Given the description of an element on the screen output the (x, y) to click on. 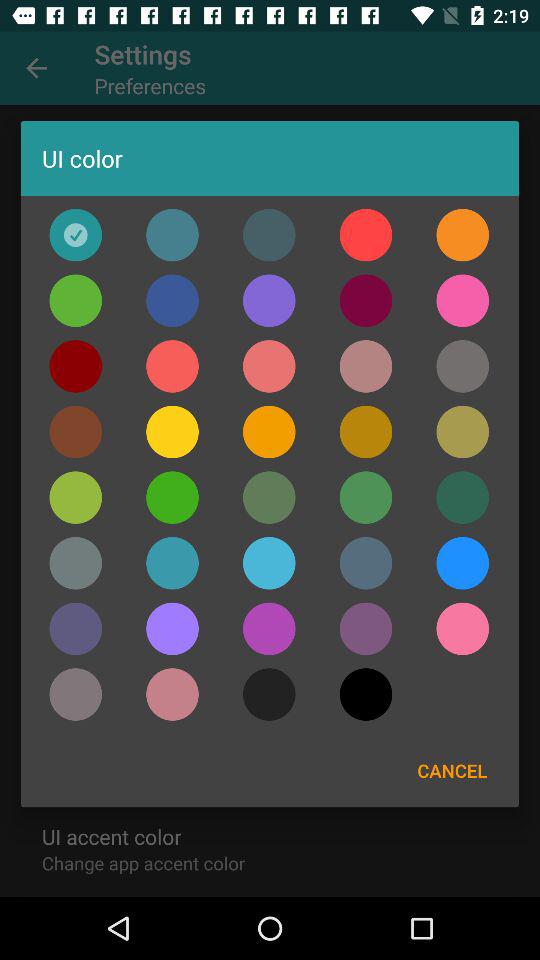
yellow button (172, 431)
